Given the description of an element on the screen output the (x, y) to click on. 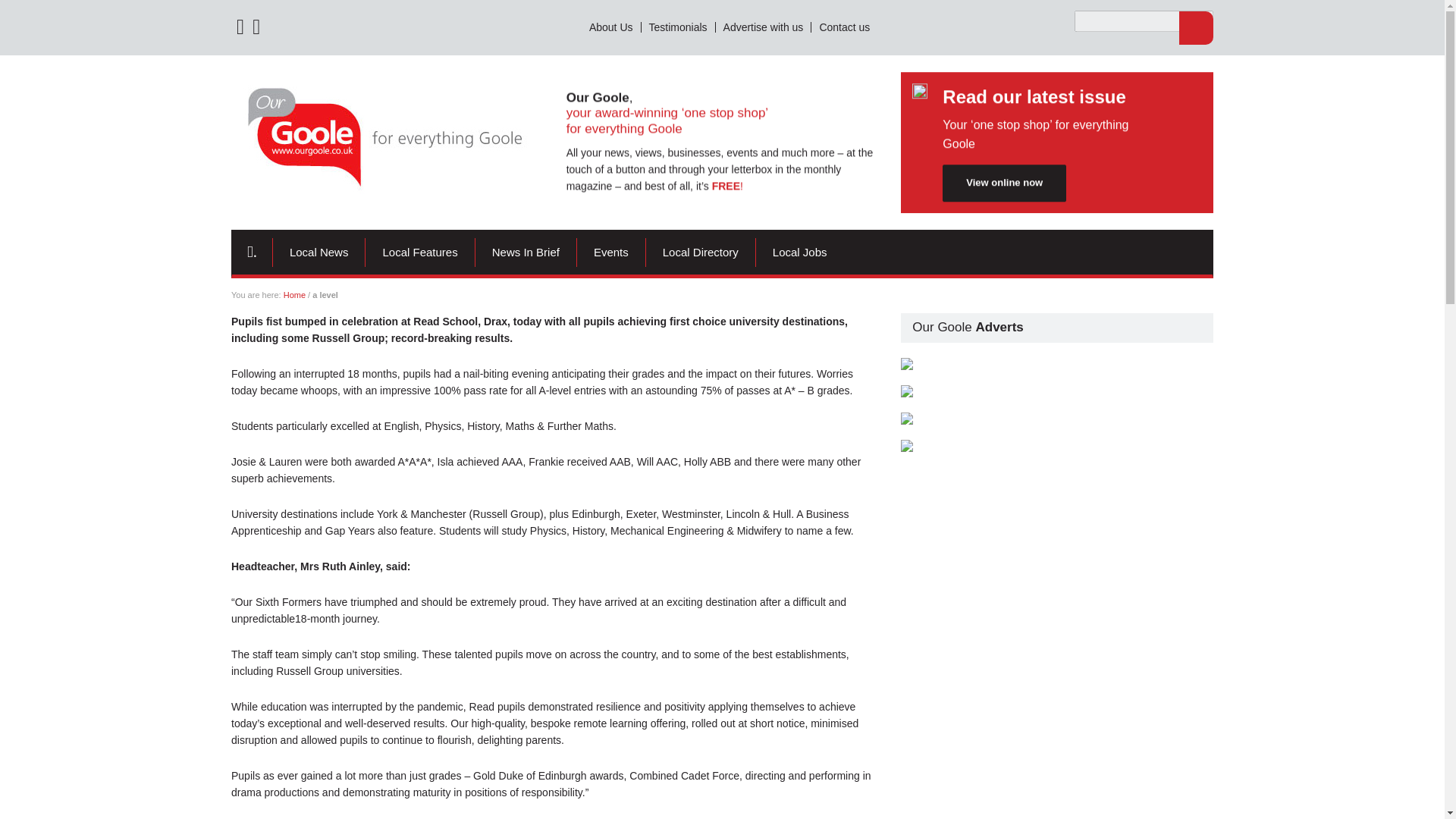
Ask us about our leaflet distribution (1056, 363)
Contact us (843, 27)
Search (1195, 28)
Testimonials (679, 27)
Advertise with us (764, 27)
About Us (611, 27)
View online now (1003, 182)
Local Features (419, 252)
Events (611, 252)
Home (294, 294)
